Given the description of an element on the screen output the (x, y) to click on. 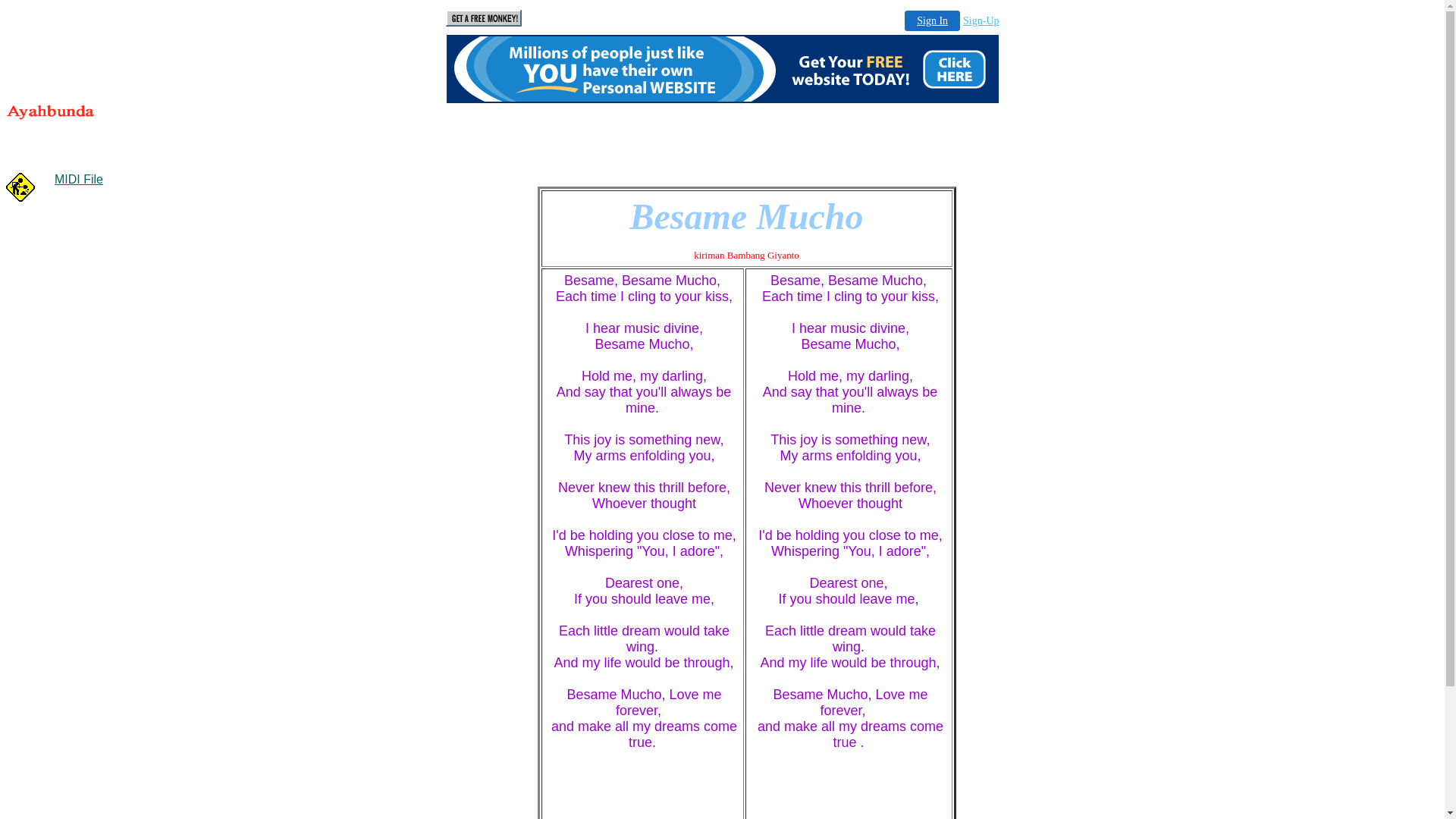
MIDI File Element type: text (78, 178)
Sign In Element type: text (932, 20)
Sign-Up Element type: text (980, 20)
